Given the description of an element on the screen output the (x, y) to click on. 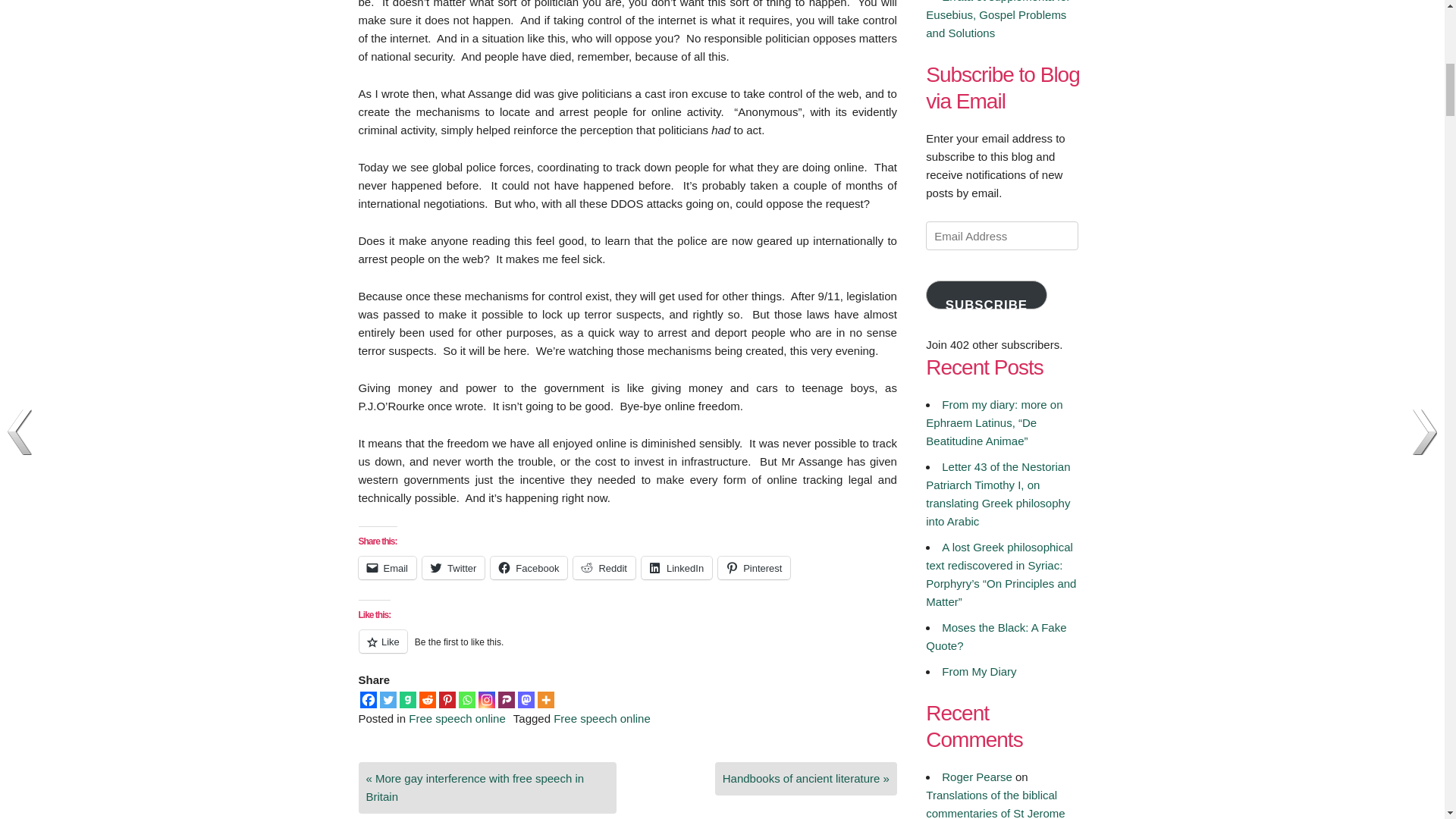
Click to email a link to a friend (387, 567)
Click to share on Facebook (528, 567)
Reddit (427, 699)
Twitter (387, 699)
Free speech online (601, 717)
Reddit (603, 567)
Instagram (486, 699)
Pinterest (446, 699)
Free speech online (457, 717)
Like or Reblog (627, 649)
Email (387, 567)
Facebook (367, 699)
LinkedIn (676, 567)
Facebook (528, 567)
Gab (406, 699)
